Given the description of an element on the screen output the (x, y) to click on. 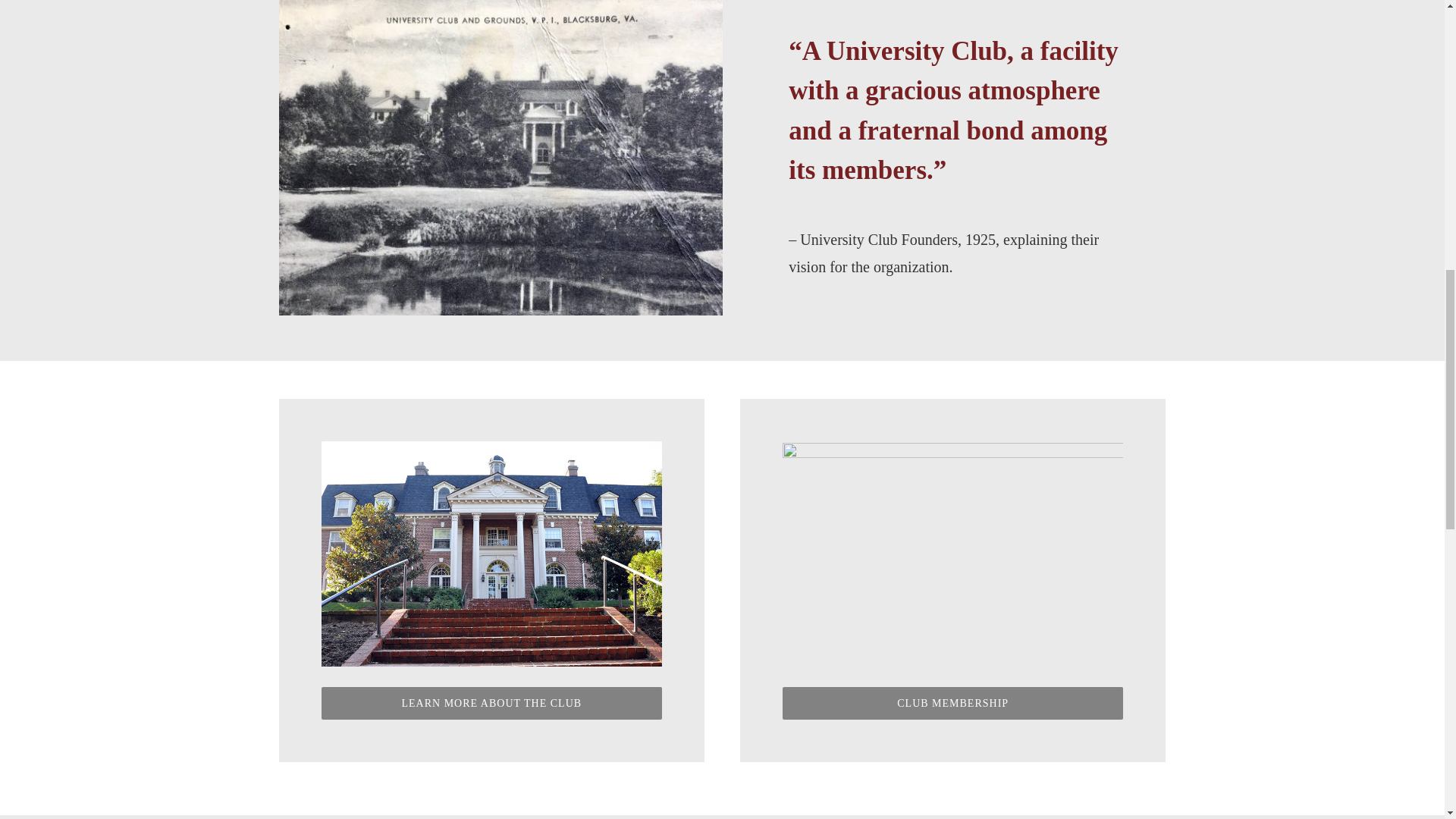
CLUB MEMBERSHIP (952, 703)
LEARN MORE ABOUT THE CLUB (491, 703)
